Given the description of an element on the screen output the (x, y) to click on. 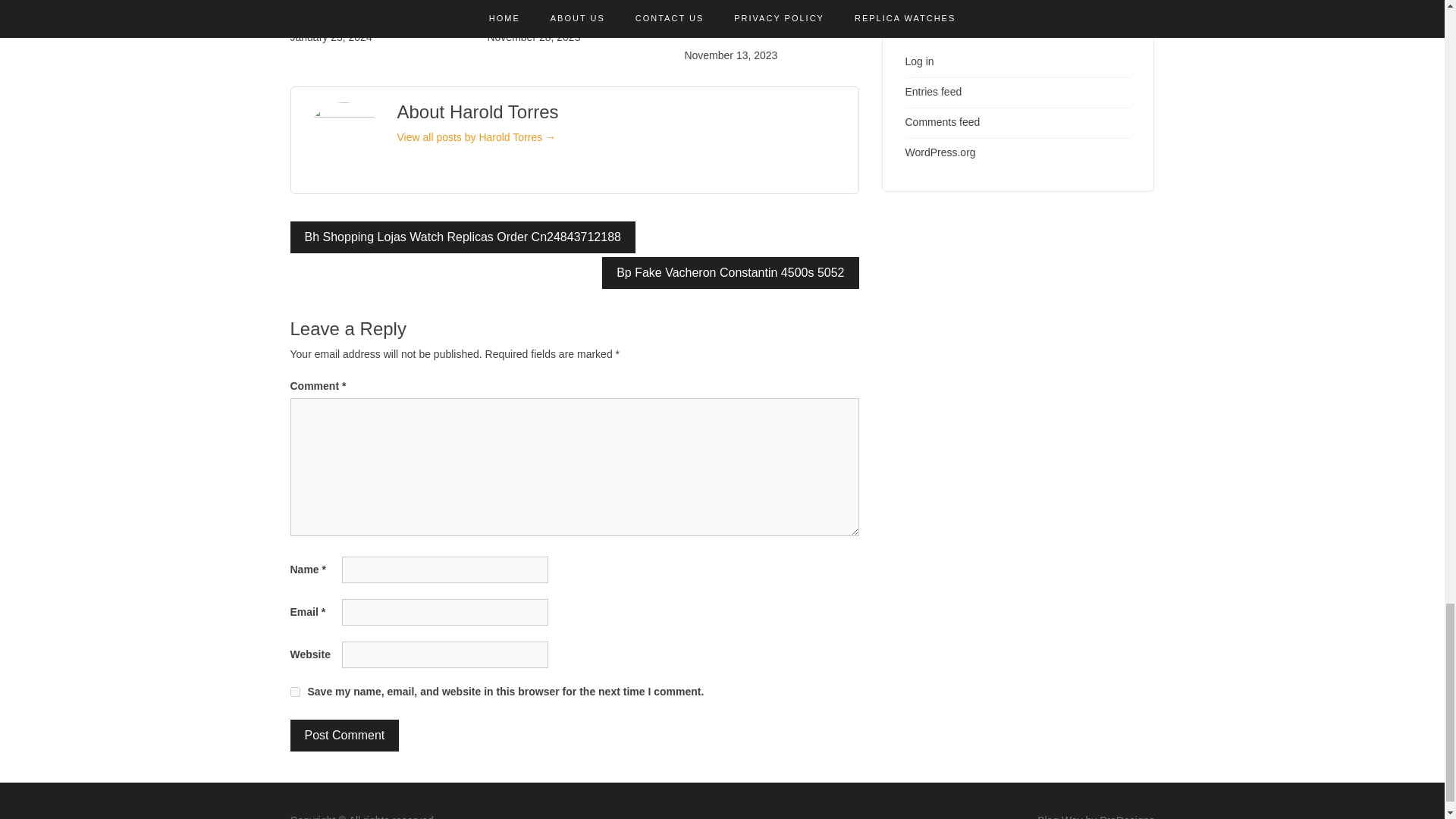
Bp Fake Vacheron Constantin 4500s 5052 (730, 273)
Post Comment (343, 735)
Top Sites To Buy IWC Watches Replica Lux (355, 11)
yes (294, 691)
Pulsera De Clavo IWC Topgun Replica Movie Download (752, 20)
Bh Shopping Lojas Watch Replicas Order Cn24843712188 (461, 237)
Fendi IWC Portofino Replica Ice Blue (572, 11)
Post Comment (343, 735)
